Given the description of an element on the screen output the (x, y) to click on. 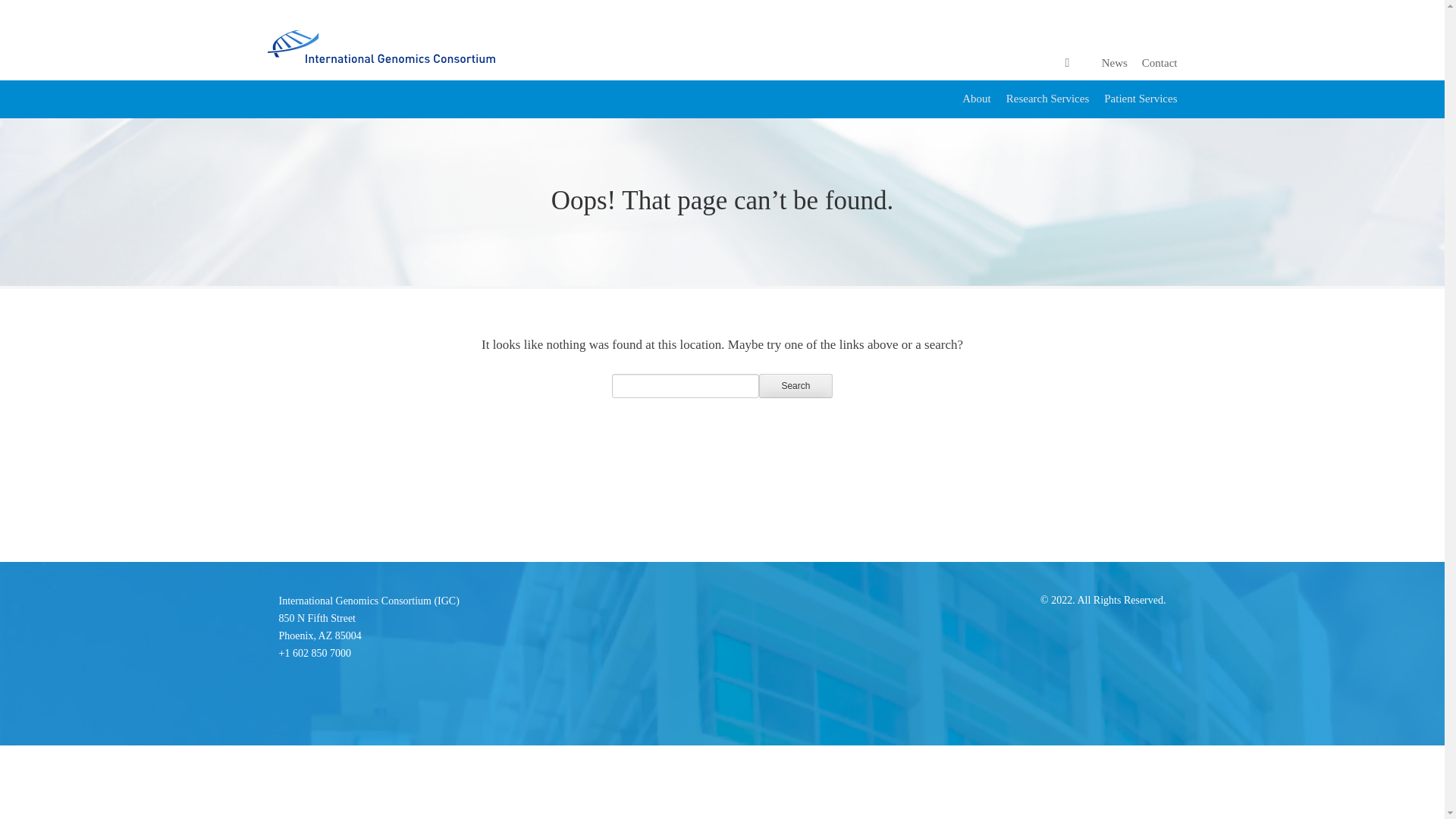
Search (795, 385)
Patient Services (320, 626)
Research Services (1139, 98)
Contact (1047, 98)
Search (1159, 62)
News (795, 385)
Search (1114, 62)
